Given the description of an element on the screen output the (x, y) to click on. 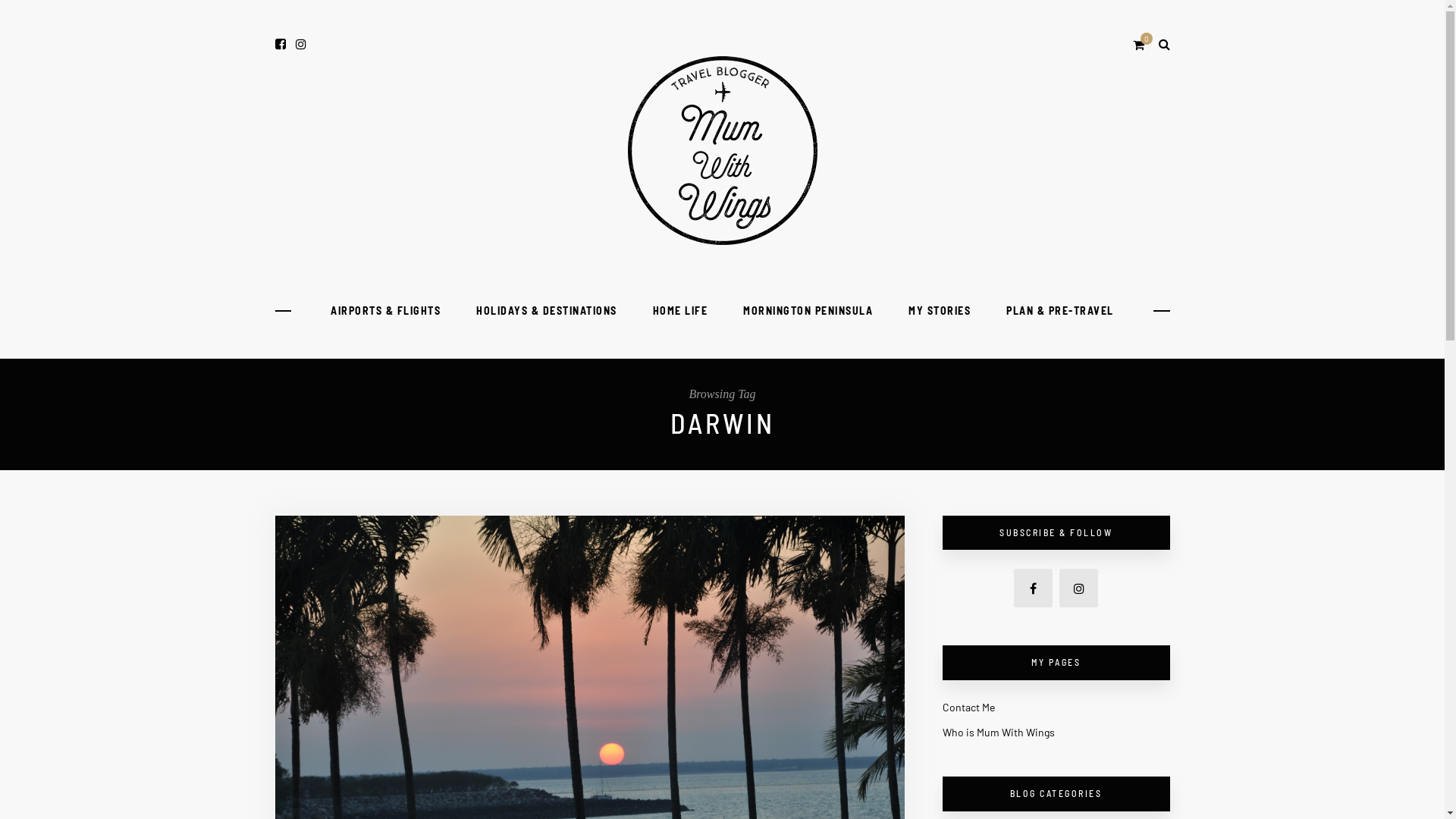
PLAN & PRE-TRAVEL Element type: text (1059, 310)
AIRPORTS & FLIGHTS Element type: text (385, 310)
Contact Me Element type: text (967, 706)
MORNINGTON PENINSULA Element type: text (807, 310)
Who is Mum With Wings Element type: text (997, 731)
HOLIDAYS & DESTINATIONS Element type: text (546, 310)
HOME LIFE Element type: text (680, 310)
MY STORIES Element type: text (939, 310)
0 Element type: text (1140, 43)
